Given the description of an element on the screen output the (x, y) to click on. 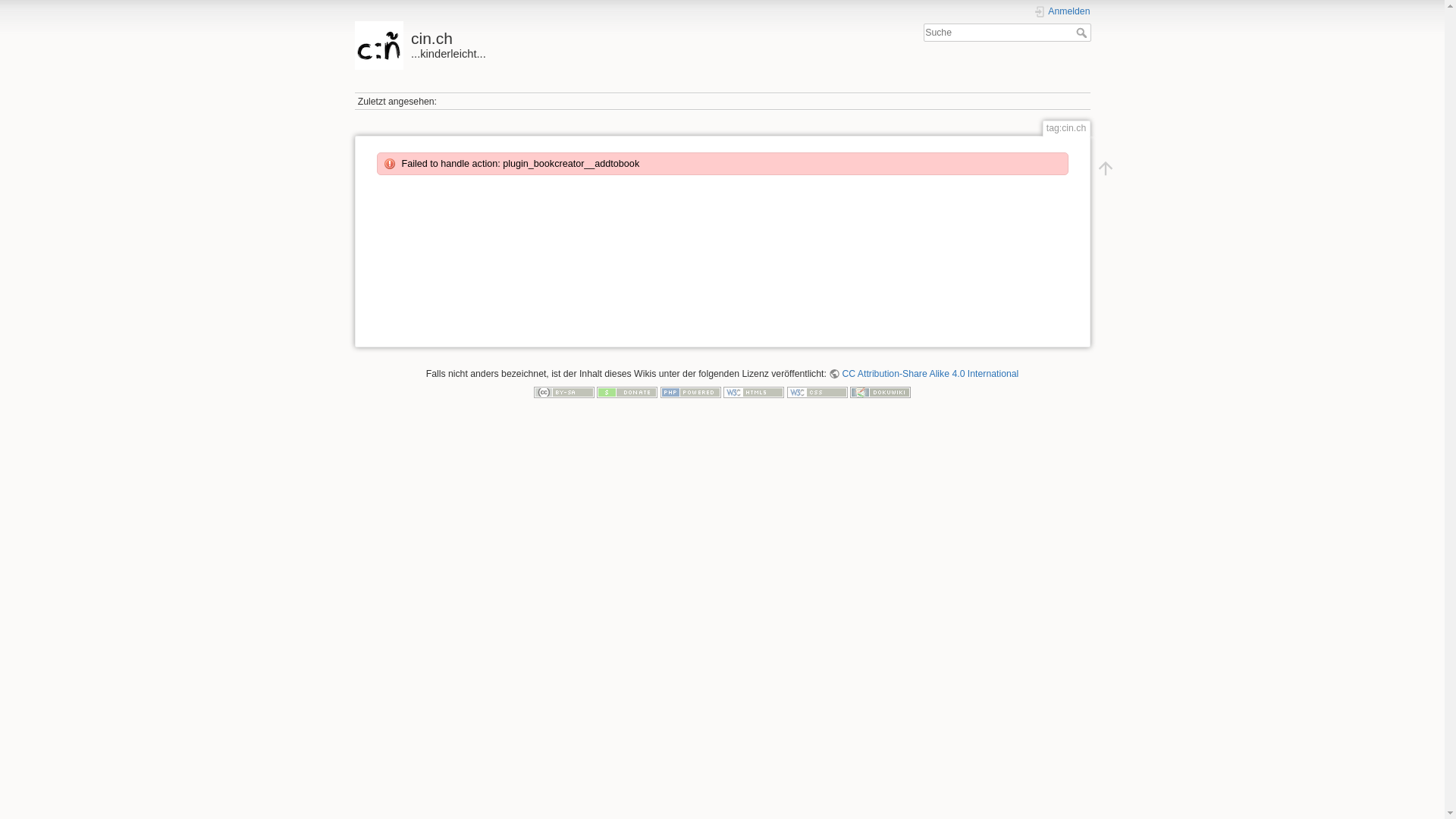
Driven by DokuWiki Element type: hover (880, 390)
Anmelden Element type: text (1061, 11)
Suche Element type: text (1082, 32)
cin.ch
...kinderleicht... Element type: text (534, 41)
Powered by PHP Element type: hover (690, 390)
Nach oben [t] Element type: hover (1104, 167)
Valid HTML5 Element type: hover (753, 390)
CC Attribution-Share Alike 4.0 International Element type: text (923, 373)
Donate Element type: hover (626, 390)
[F] Element type: hover (1007, 32)
Valid CSS Element type: hover (817, 390)
